Given the description of an element on the screen output the (x, y) to click on. 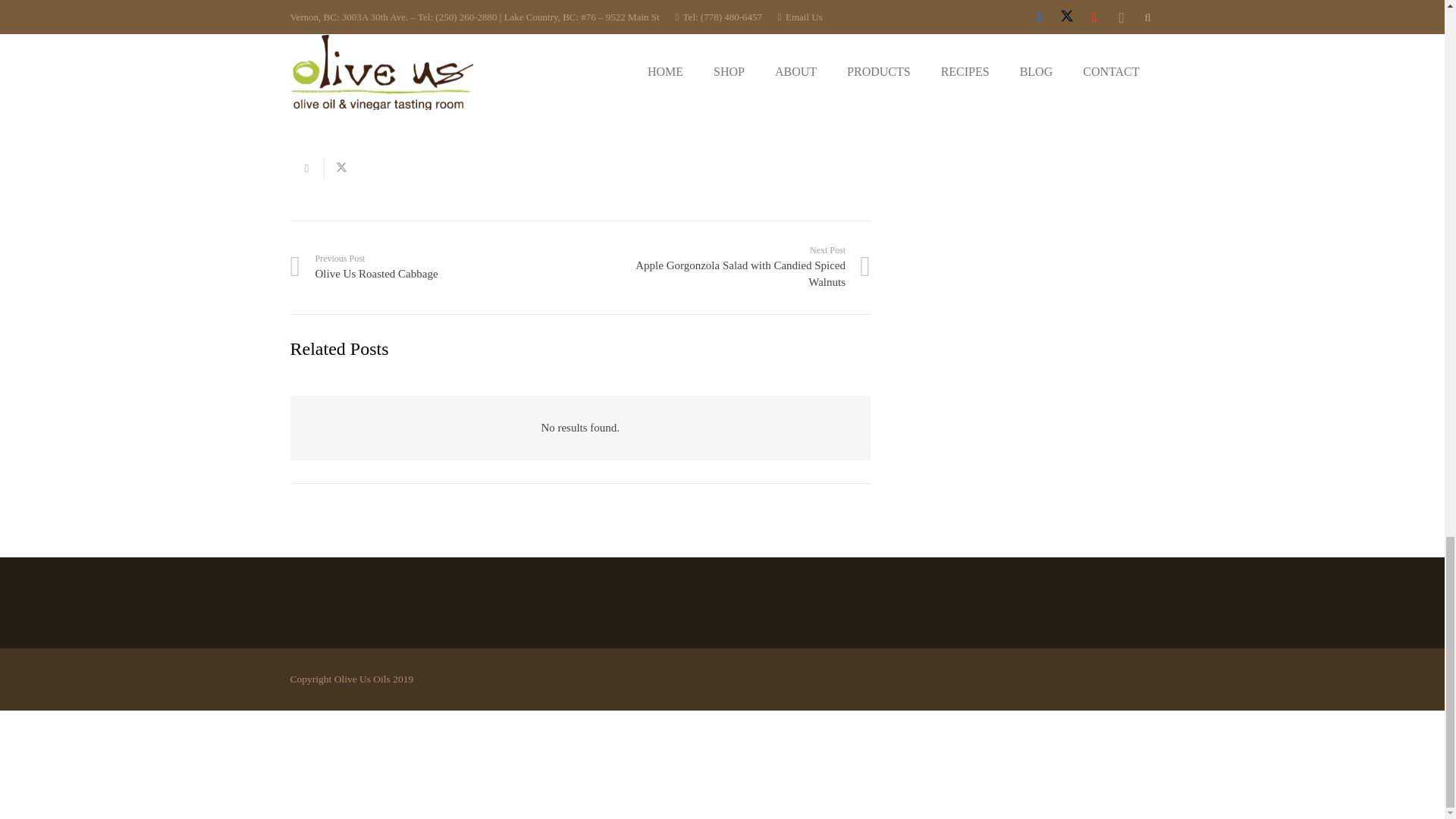
Apple Gorgonzola Salad with Candied Spiced Walnuts (724, 267)
Tweet this (341, 168)
Olive Us Roasted Cabbage (434, 267)
Share this (306, 168)
